Given the description of an element on the screen output the (x, y) to click on. 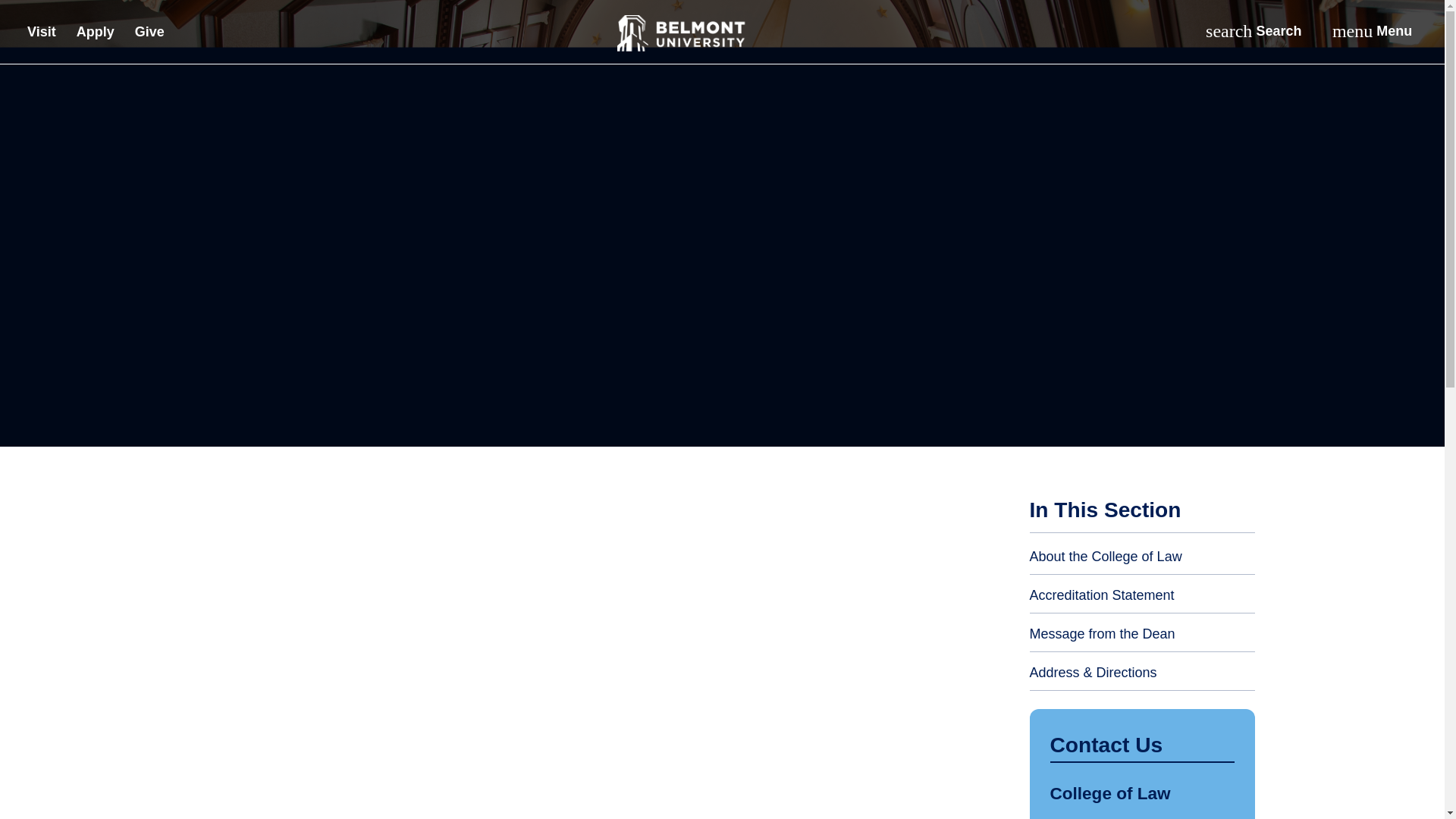
Visit (1371, 31)
Apply (41, 34)
Give (96, 34)
